Given the description of an element on the screen output the (x, y) to click on. 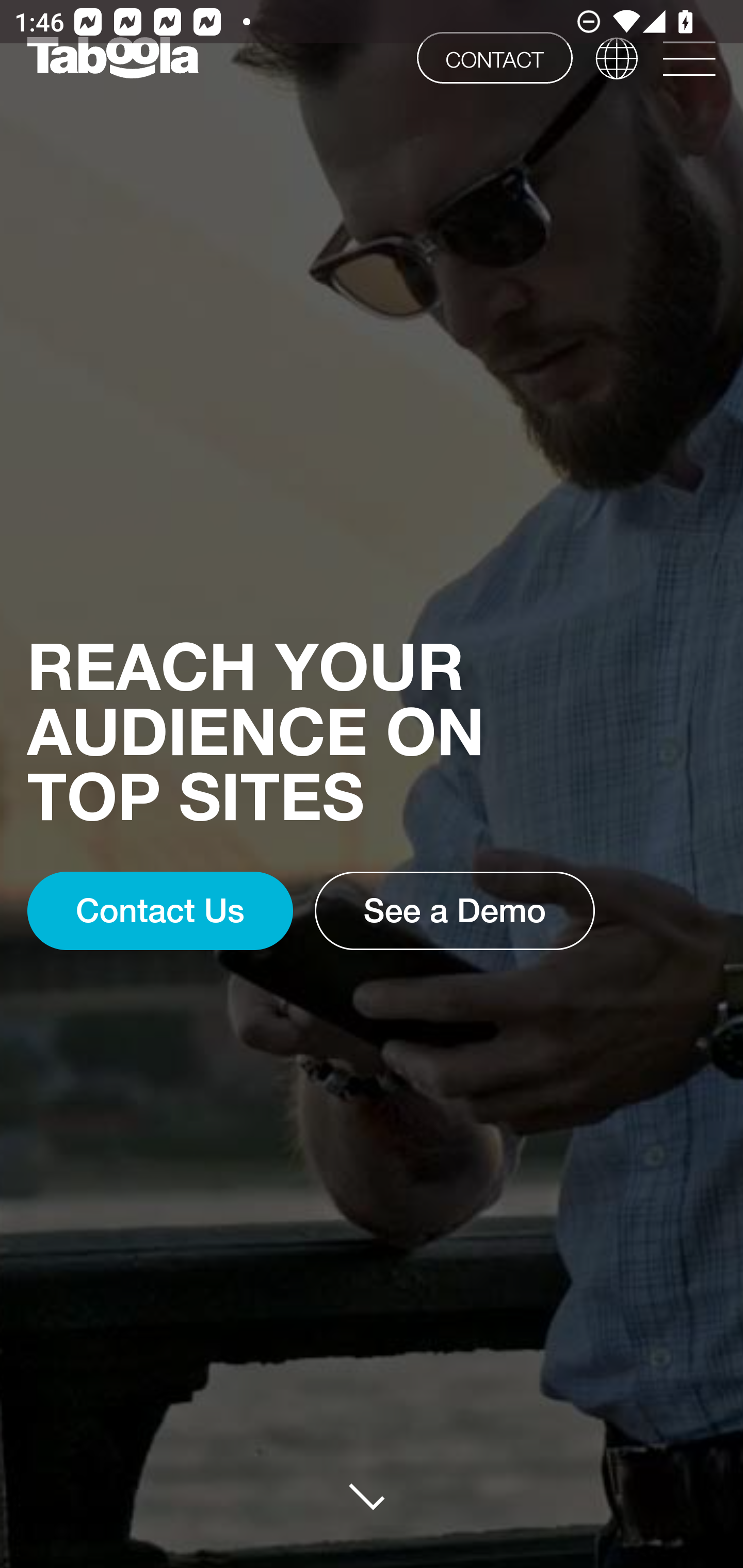
CONTACT (494, 56)
www.taboola (112, 57)
Contact Us (159, 910)
See a Demo (454, 910)
advertise#slider (372, 1496)
